Given the description of an element on the screen output the (x, y) to click on. 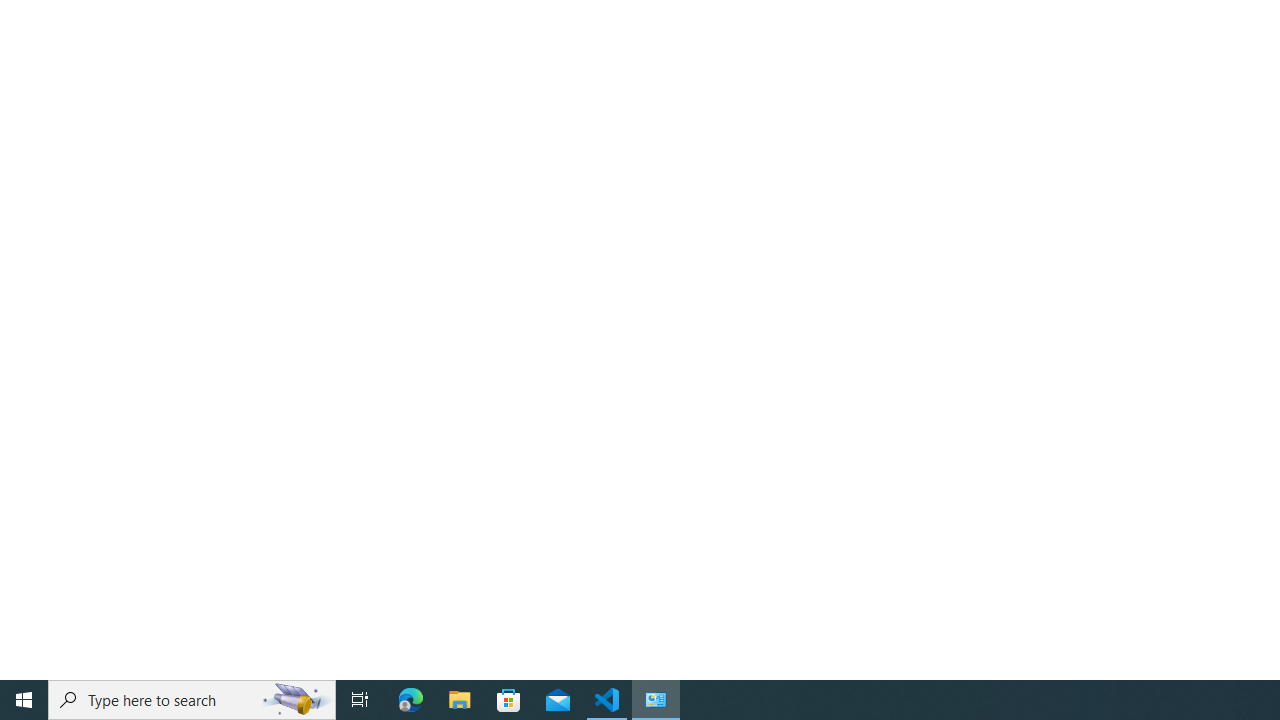
File Explorer (460, 699)
Visual Studio Code - 1 running window (607, 699)
Search highlights icon opens search home window (295, 699)
Type here to search (191, 699)
Microsoft Store (509, 699)
Start (24, 699)
Microsoft Edge (411, 699)
Control Panel - 1 running window (656, 699)
Task View (359, 699)
